Given the description of an element on the screen output the (x, y) to click on. 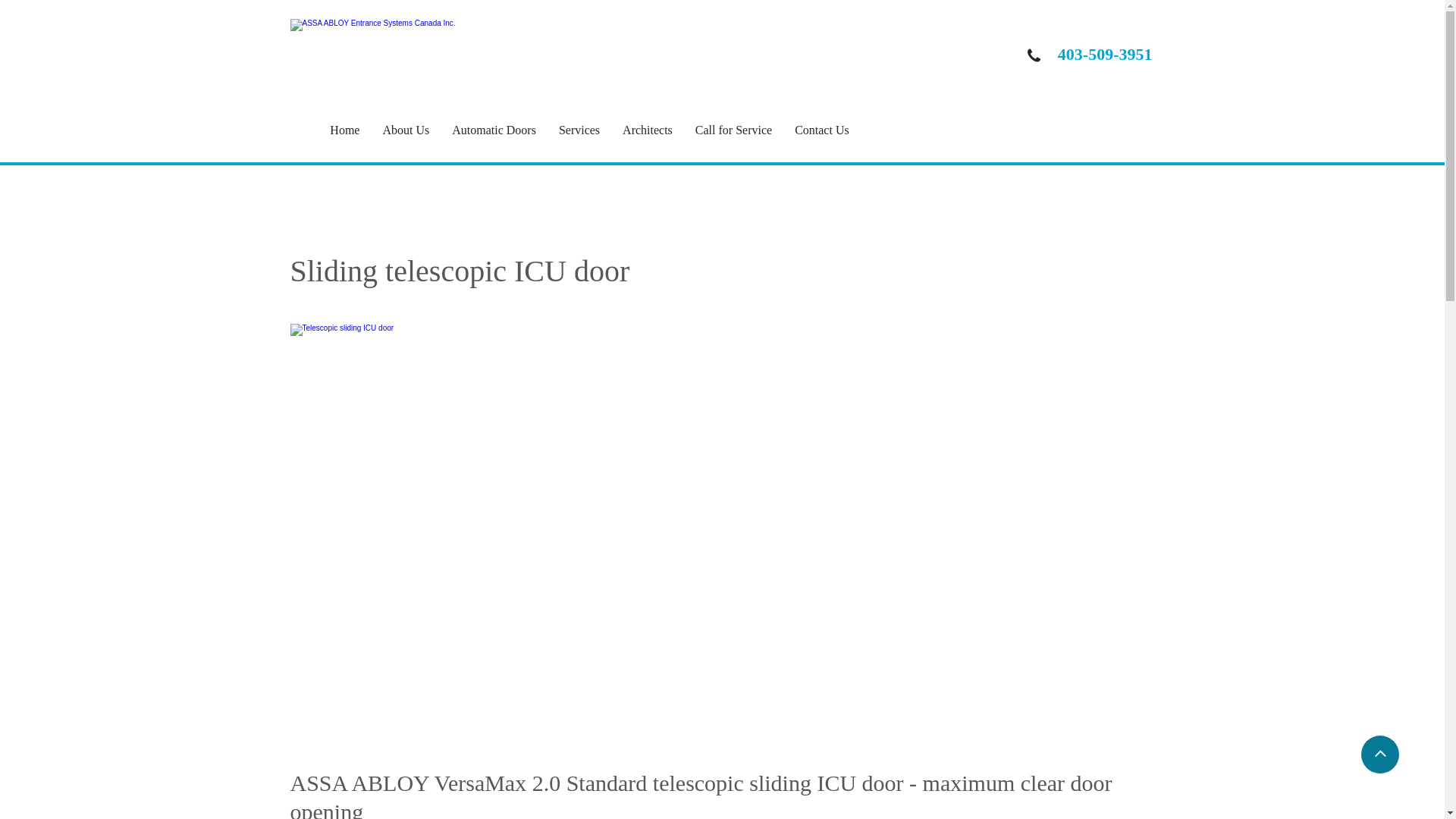
403-509-3951 Element type: text (1104, 53)
Architects Element type: text (658, 130)
Services Element type: text (590, 130)
Home Element type: text (355, 130)
Automatic Doors Element type: text (504, 130)
Call for Service Element type: text (744, 130)
About Us Element type: text (416, 130)
Contact Us Element type: text (833, 130)
